Given the description of an element on the screen output the (x, y) to click on. 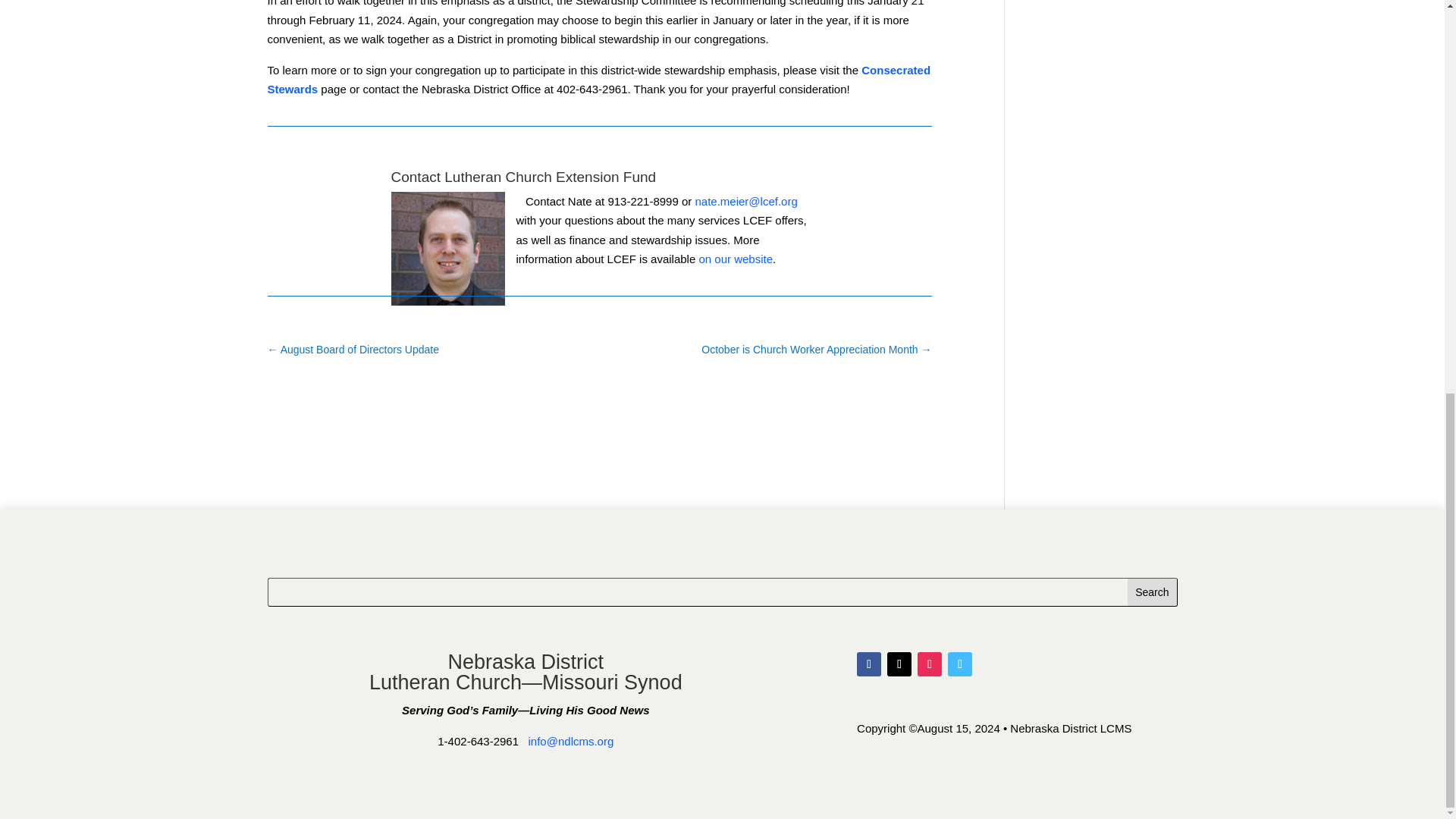
Follow on X (898, 663)
Search (1151, 592)
Search (1151, 592)
Follow on Instagram (929, 663)
Follow on Vimeo (959, 663)
Follow on Facebook (868, 663)
